Given the description of an element on the screen output the (x, y) to click on. 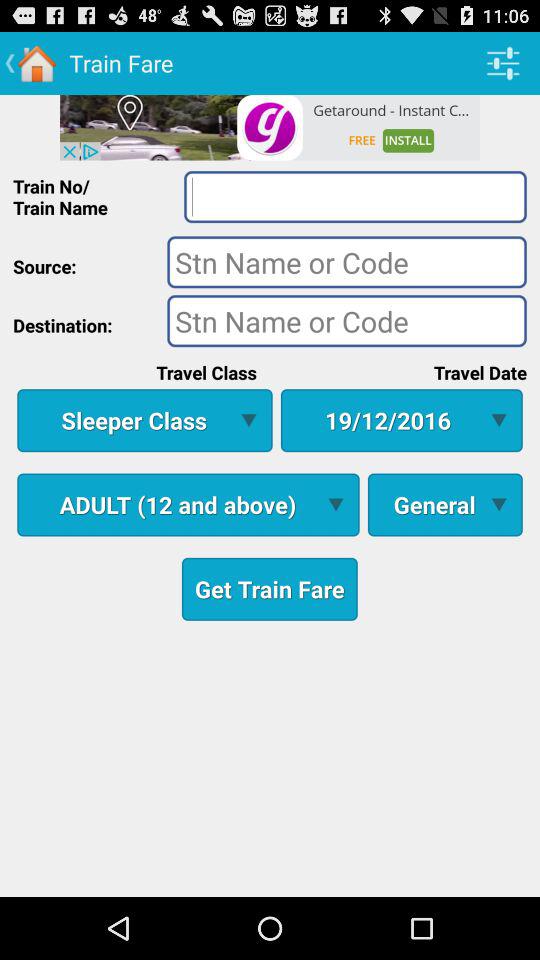
enter box (355, 196)
